Given the description of an element on the screen output the (x, y) to click on. 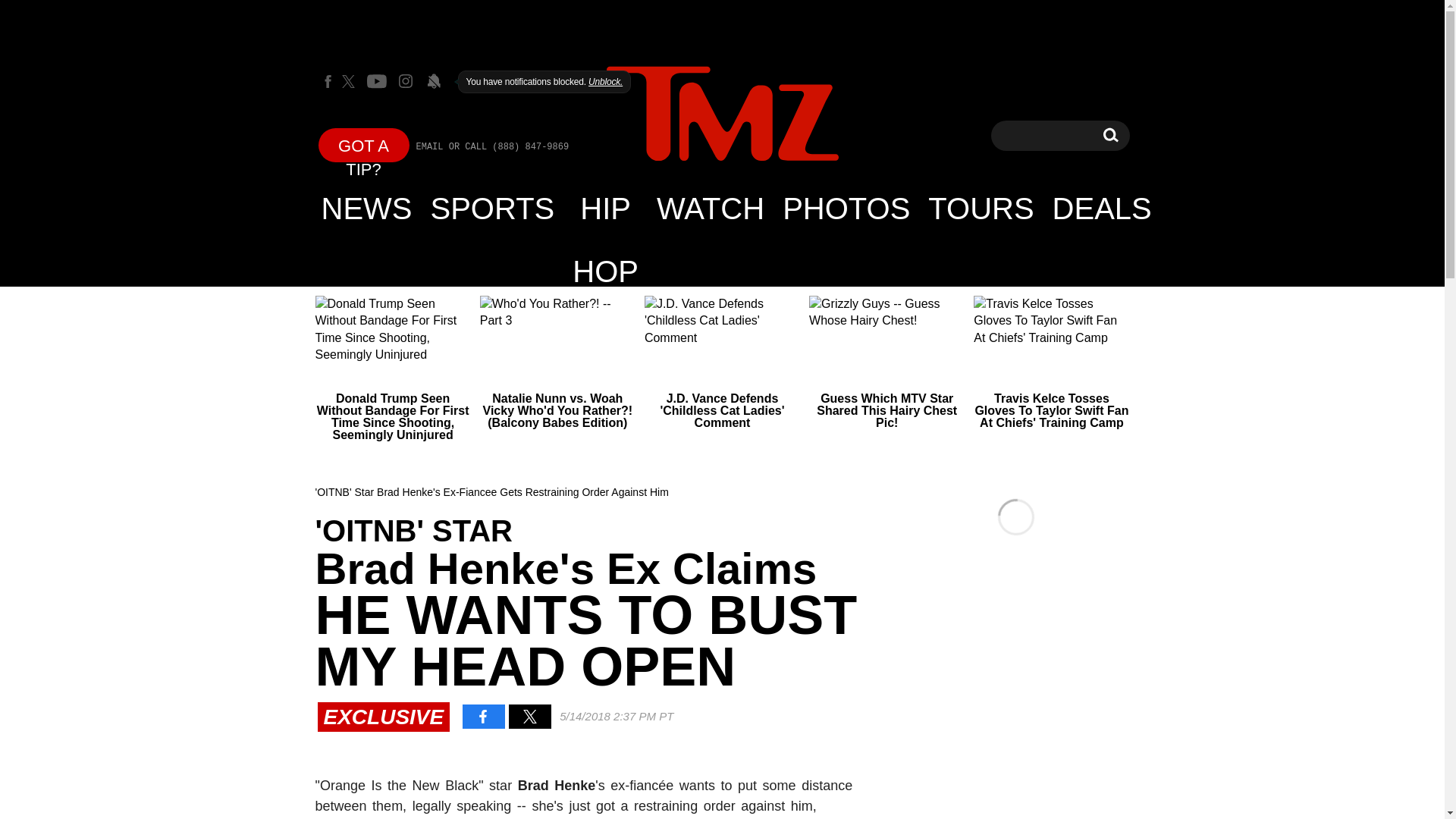
DEALS (1101, 207)
TMZ (722, 113)
PHOTOS (845, 207)
TOURS (980, 207)
TMZ (722, 115)
WATCH (710, 207)
SPORTS (493, 207)
HIP HOP (605, 207)
Search (1110, 135)
NEWS (1110, 134)
GOT A TIP? (367, 207)
